Given the description of an element on the screen output the (x, y) to click on. 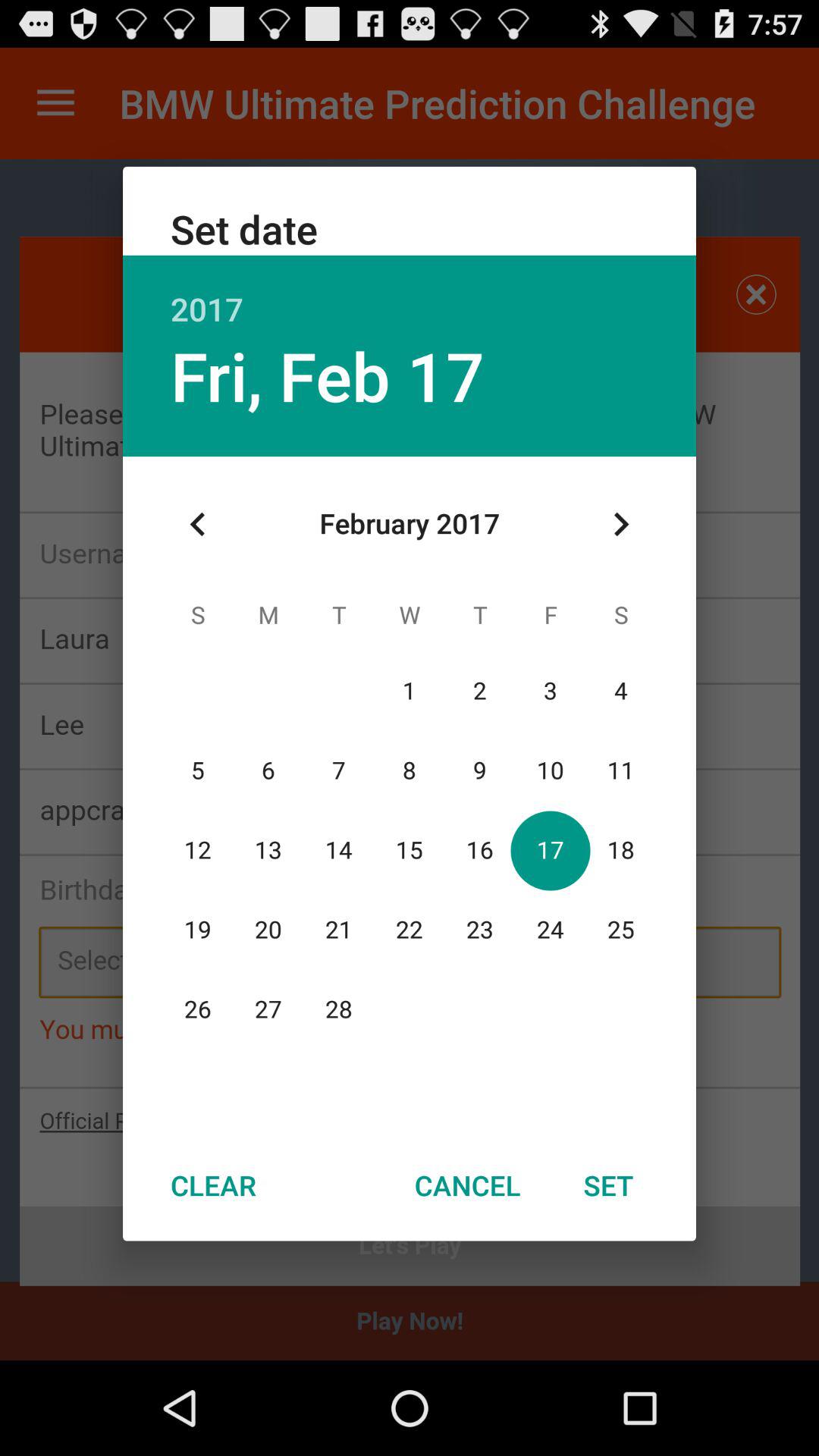
tap item above the set (620, 524)
